Given the description of an element on the screen output the (x, y) to click on. 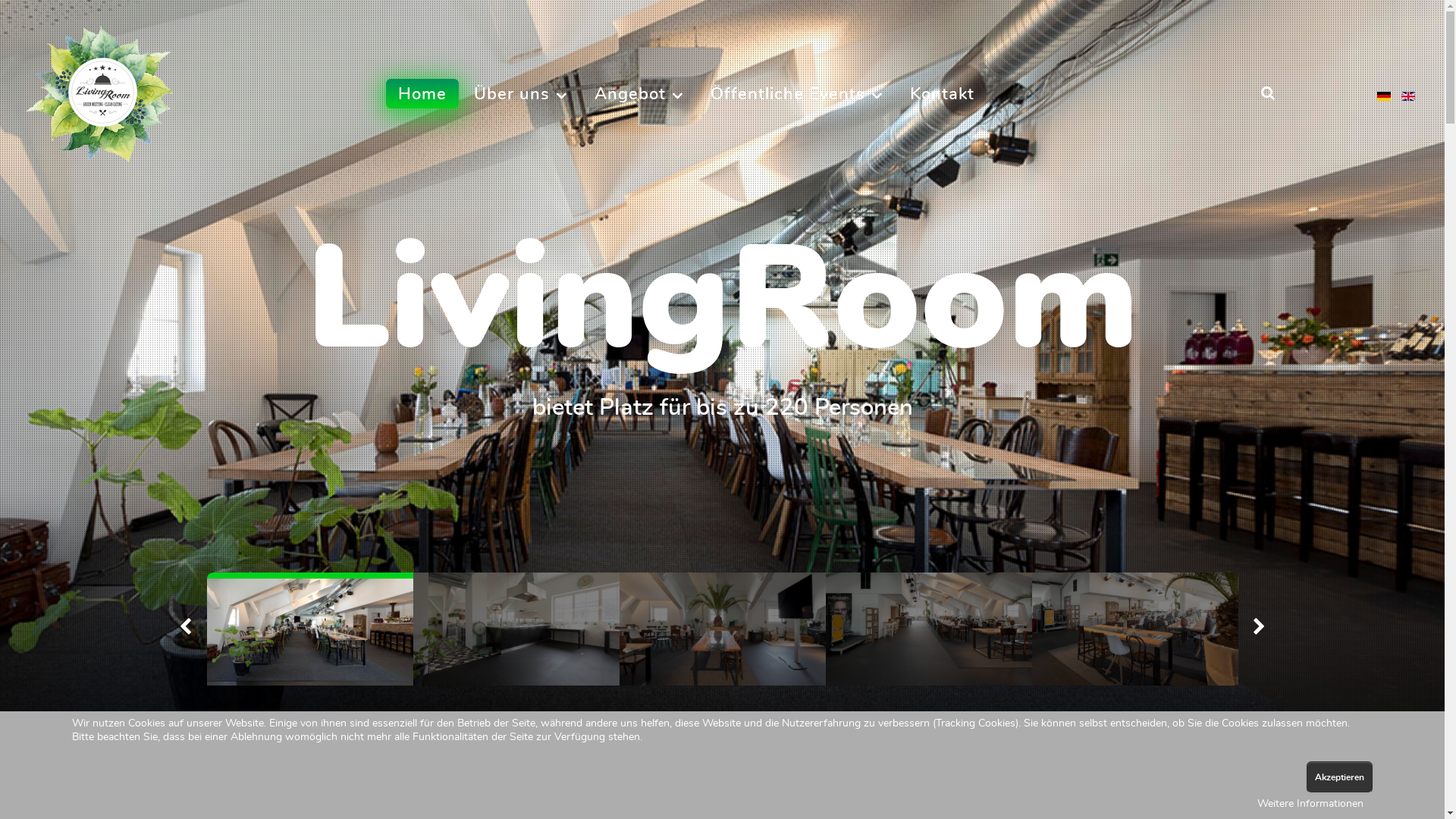
German Element type: hover (1383, 95)
Search Form Element type: hover (1267, 93)
Kontakt Element type: text (941, 93)
LivingRoom Element type: hover (108, 93)
Home Element type: text (421, 93)
English (United Kingdom) Element type: hover (1408, 95)
Akzeptieren Element type: text (1339, 777)
Weitere Informationen Element type: text (1310, 804)
